Given the description of an element on the screen output the (x, y) to click on. 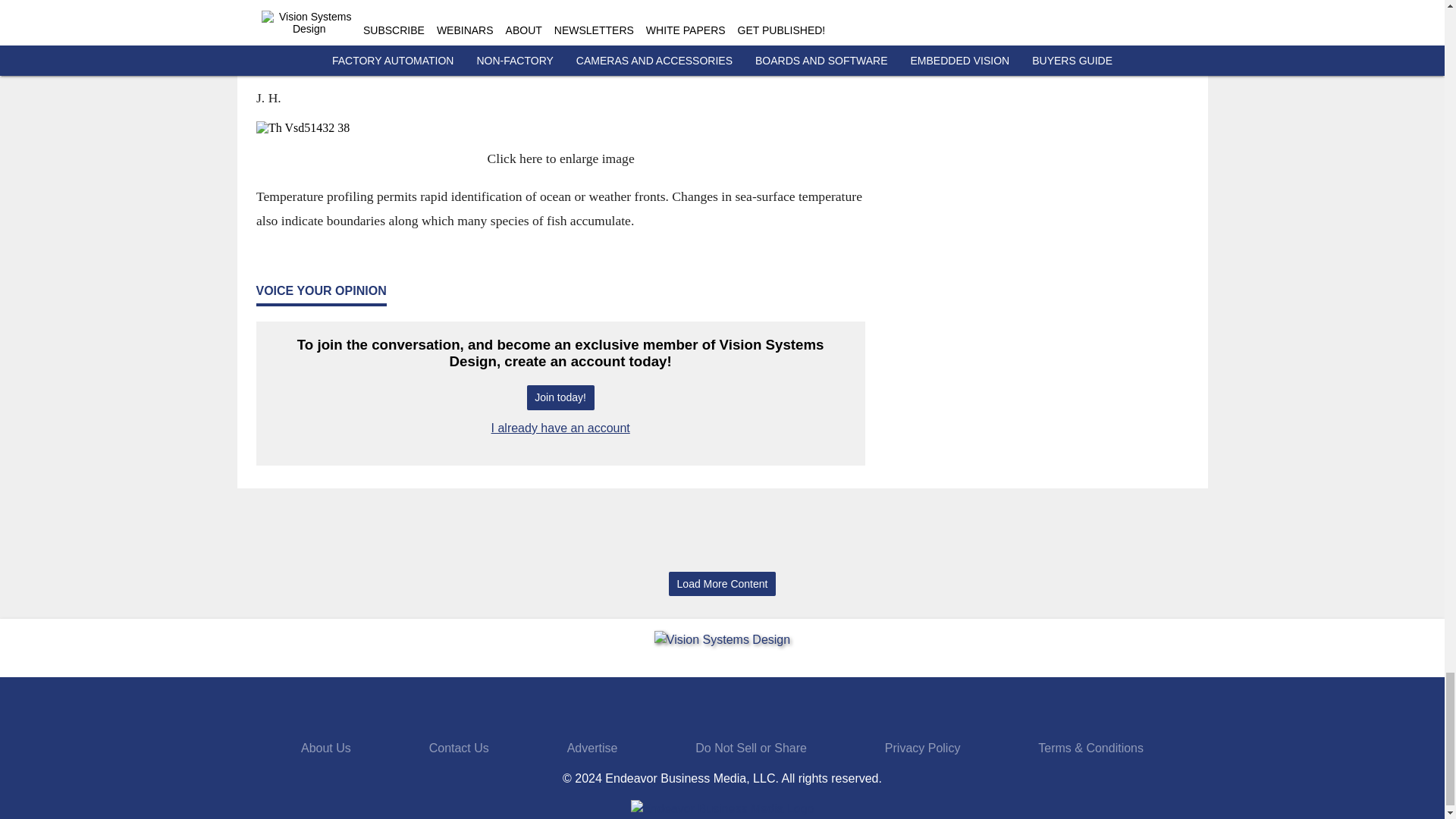
Th Vsd51432 38 (560, 128)
Join today! (560, 397)
I already have an account (561, 427)
